Given the description of an element on the screen output the (x, y) to click on. 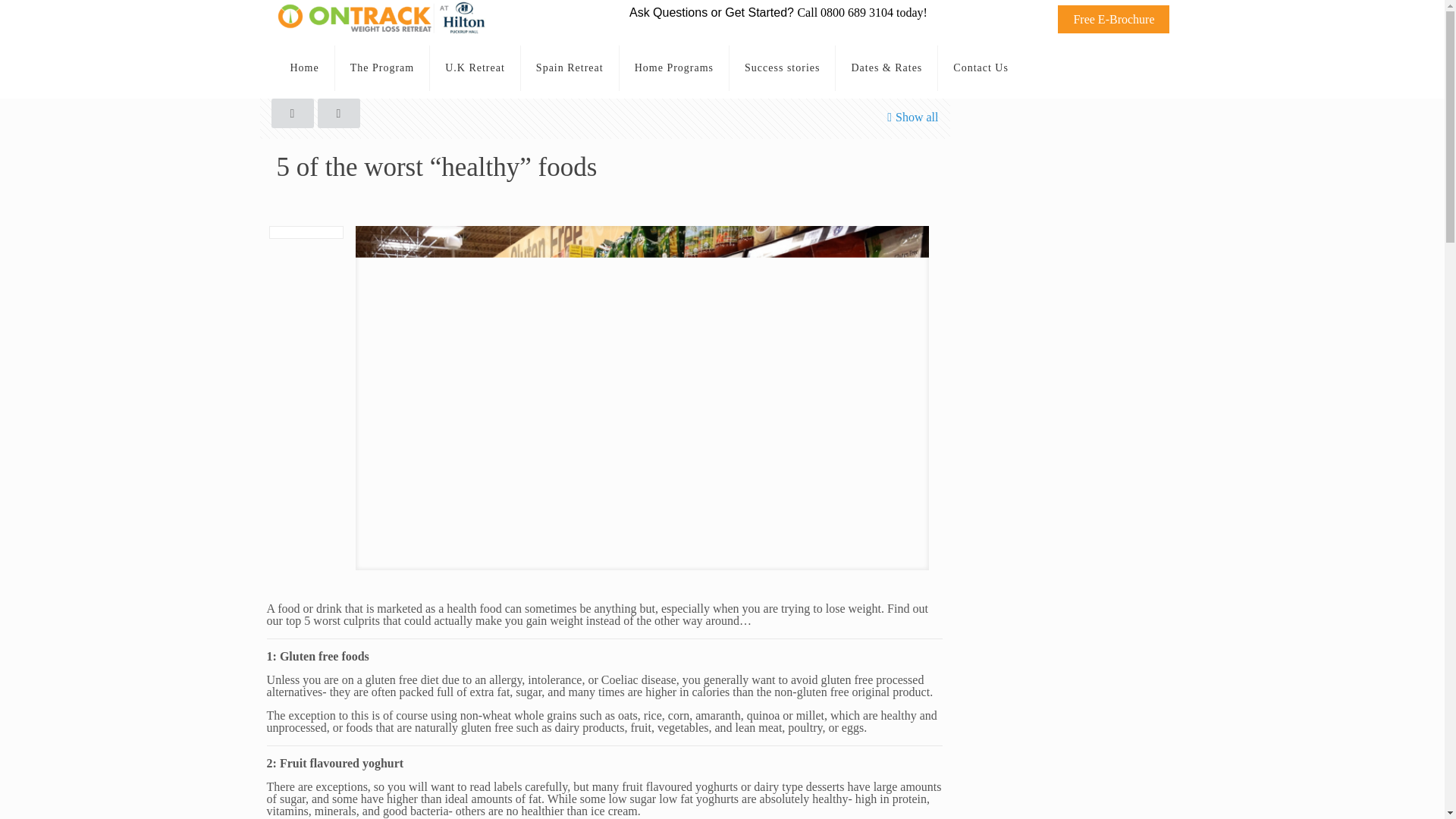
U.K Retreat (475, 67)
Success stories (782, 67)
Contact Us (980, 67)
The Program (381, 67)
Home (304, 67)
Call 0800 689 3104 today! (861, 11)
Spain Retreat (570, 67)
Ontrack (386, 31)
Home Programs (674, 67)
Free E-Brochure (1113, 18)
